Given the description of an element on the screen output the (x, y) to click on. 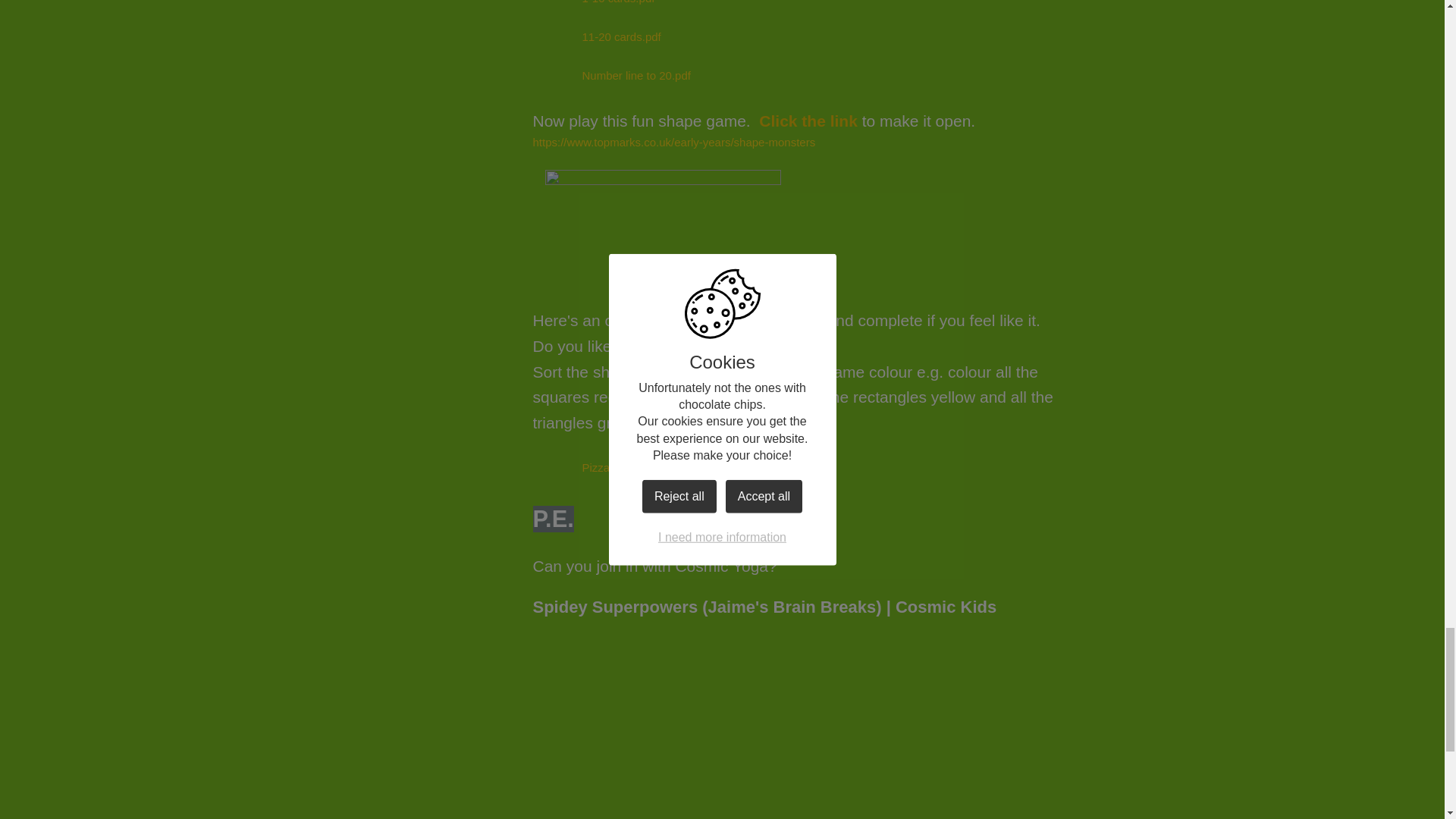
Pizza shape worksheet.pdf (624, 467)
Number line to 20.pdf (611, 75)
1-10 cards.pdf (592, 7)
11-20 cards.pdf (596, 36)
